Given the description of an element on the screen output the (x, y) to click on. 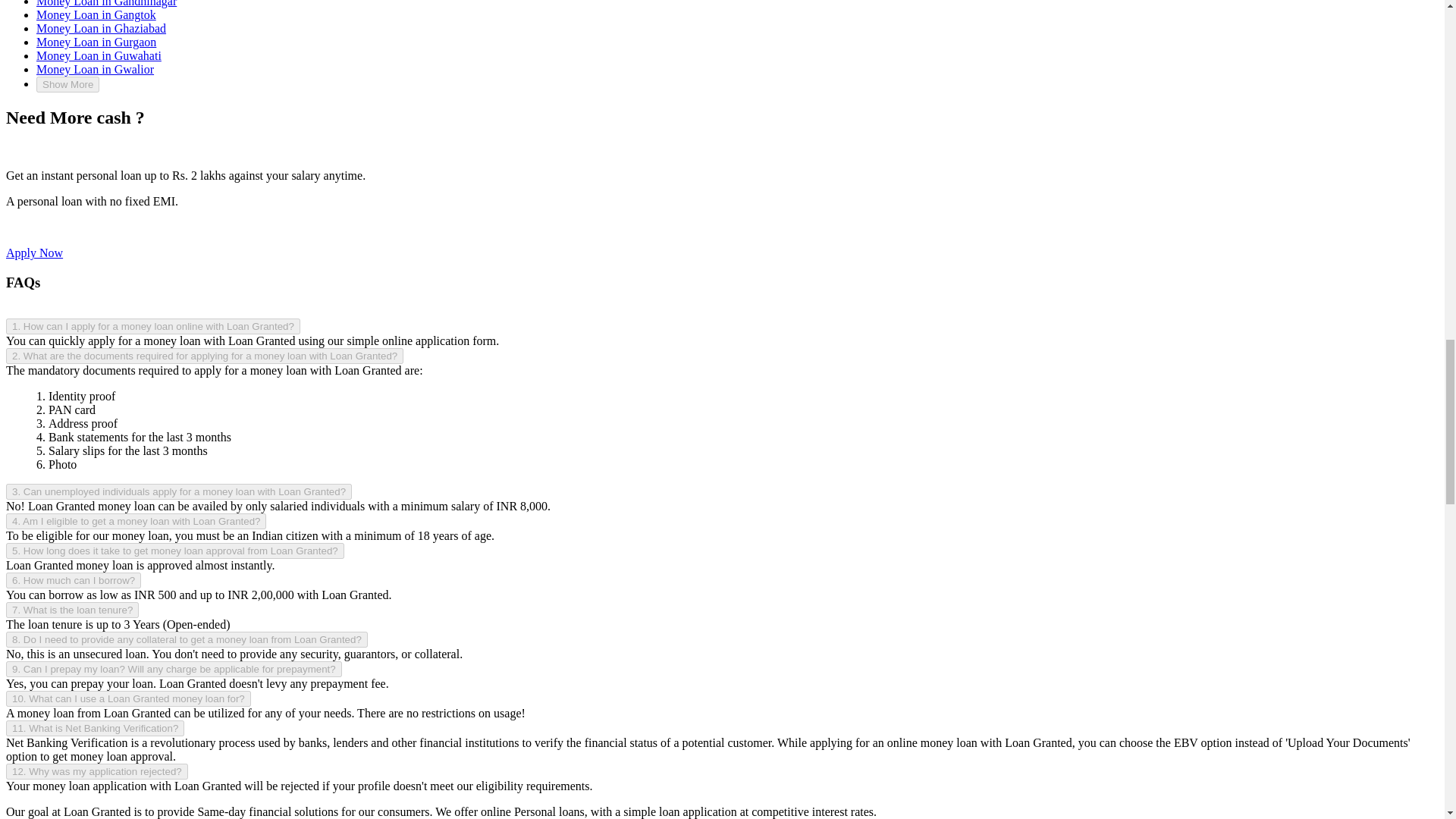
Money Loan in Gurgaon (95, 42)
Money Loan in Ghaziabad (100, 28)
Money Loan in Gandhinagar (106, 3)
Money Loan in Gangtok (95, 14)
